Given the description of an element on the screen output the (x, y) to click on. 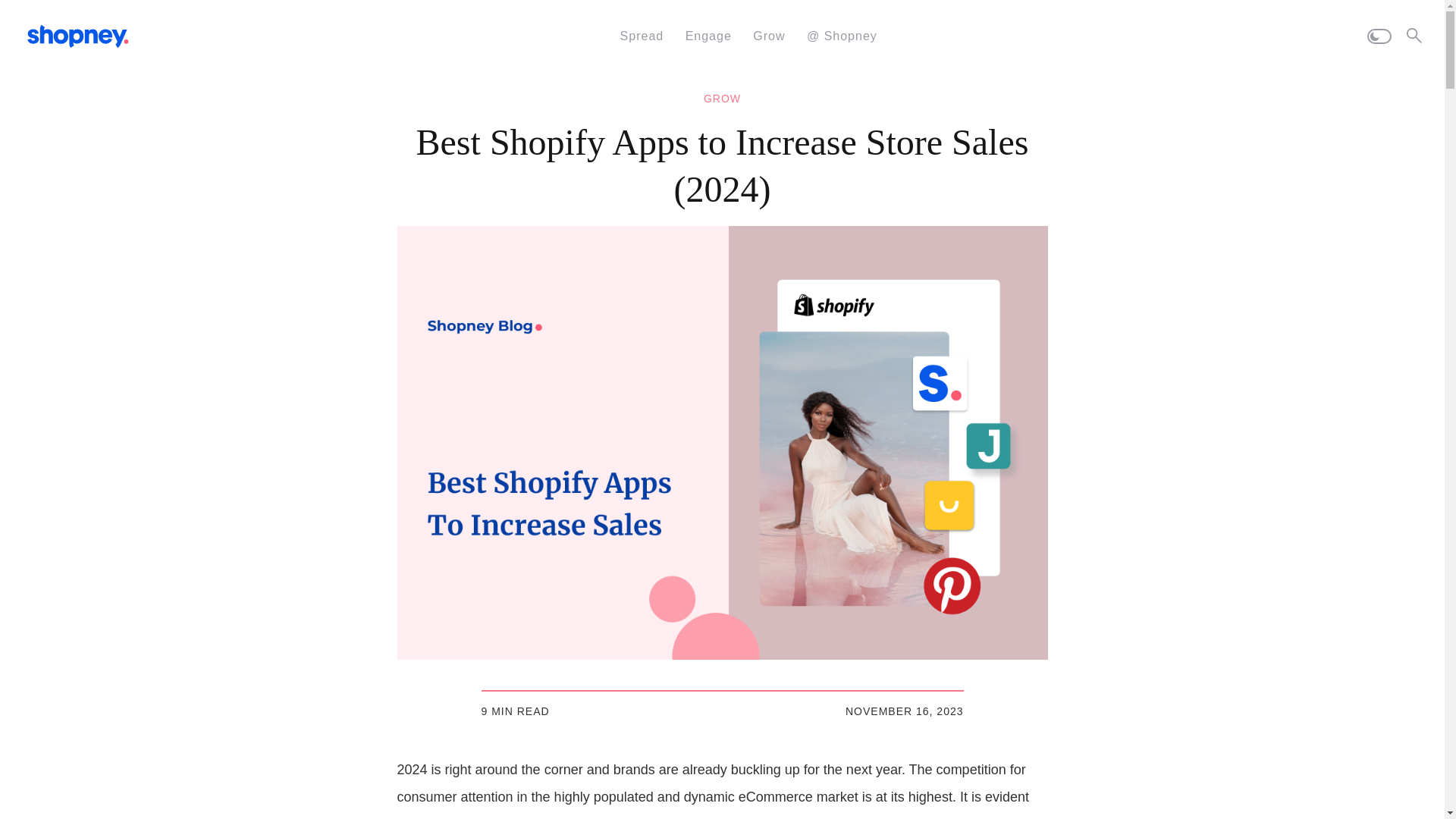
Spread (641, 35)
Grow (768, 35)
Engage (708, 35)
GROW (722, 98)
